Given the description of an element on the screen output the (x, y) to click on. 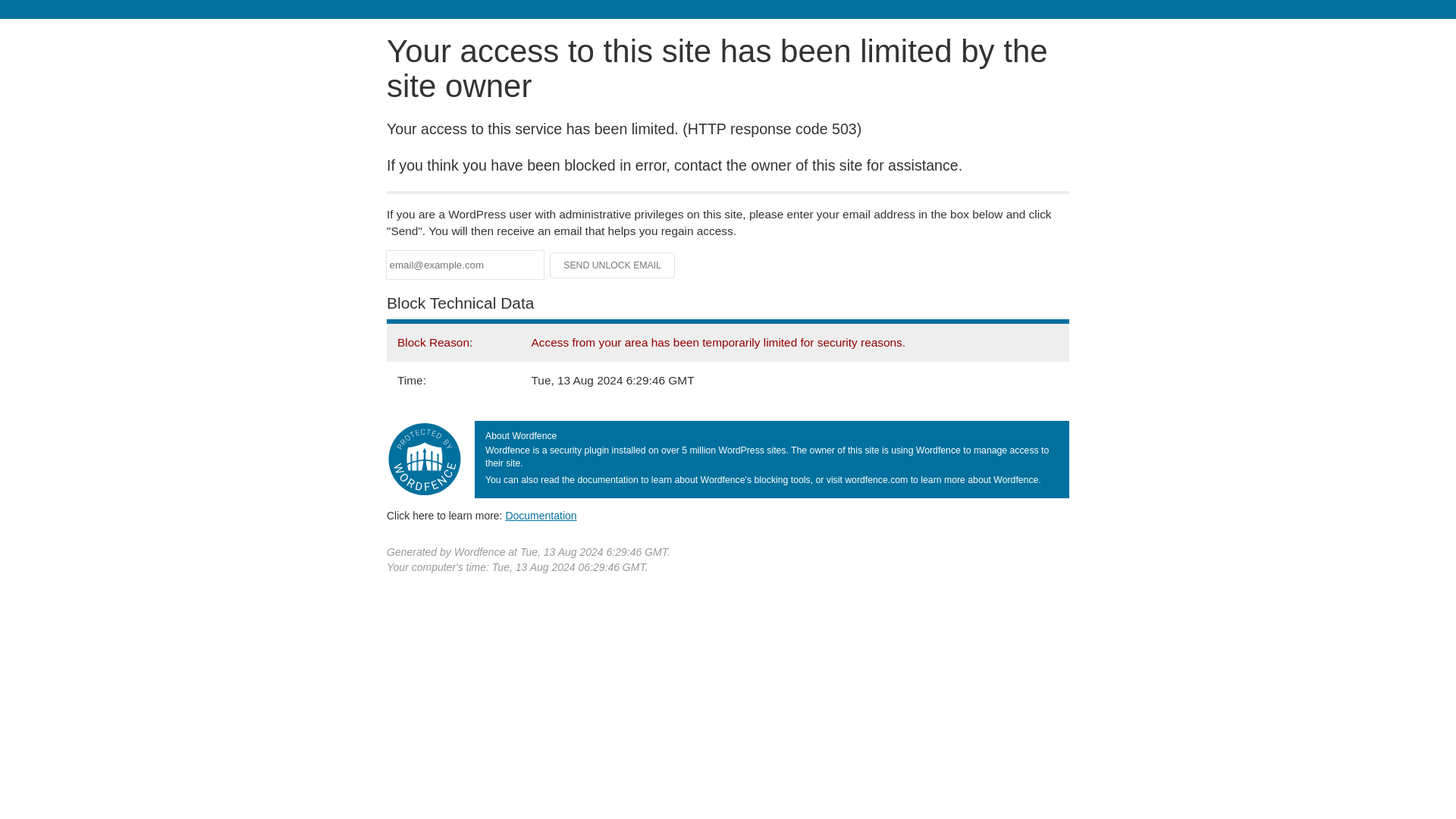
Documentation (540, 515)
Send Unlock Email (612, 265)
Send Unlock Email (612, 265)
